Given the description of an element on the screen output the (x, y) to click on. 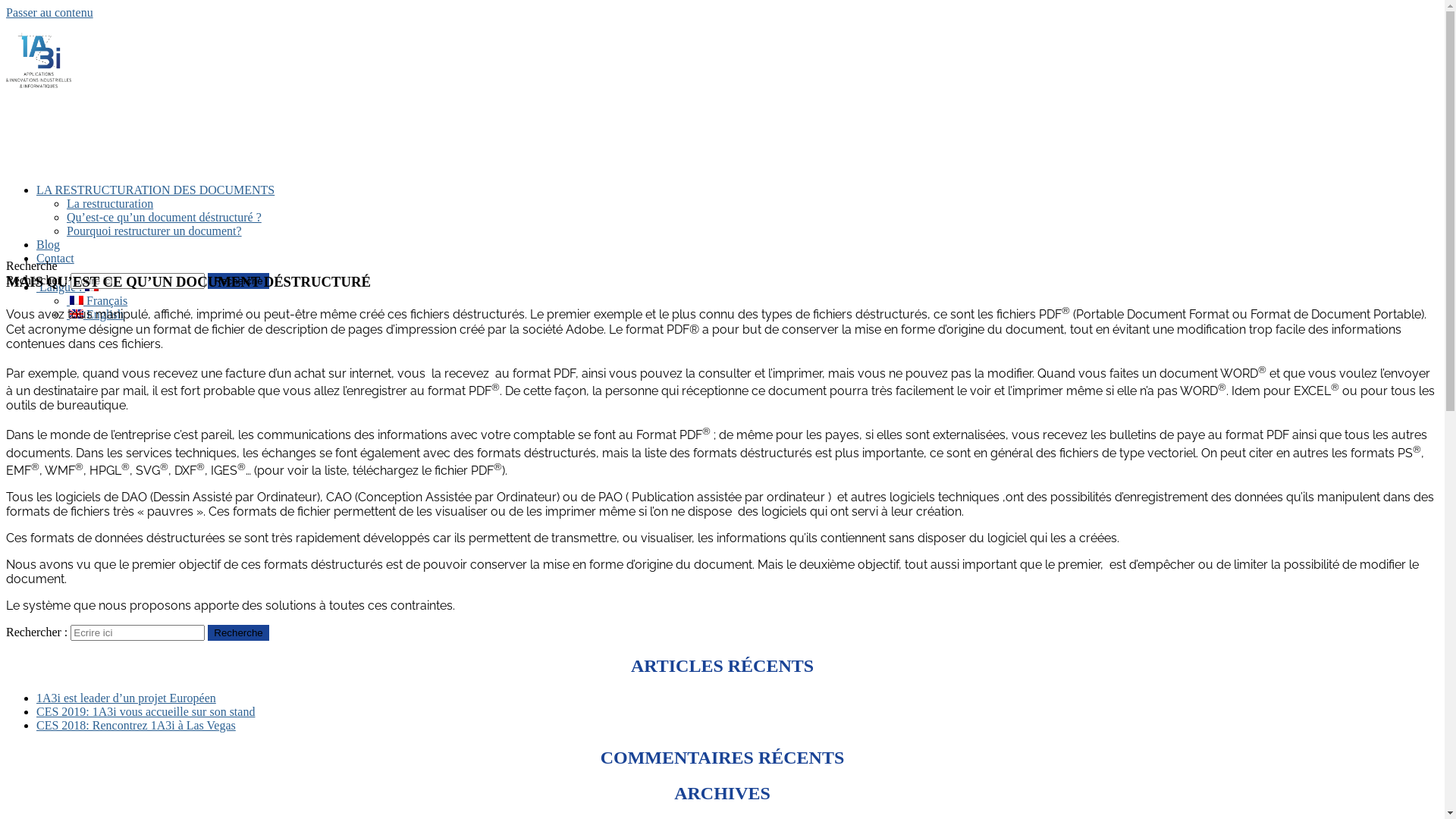
Blog Element type: text (47, 244)
La restructuration Element type: text (109, 203)
LA RESTRUCTURATION DES DOCUMENTS Element type: text (155, 189)
Recherche Element type: text (237, 632)
Recherche Element type: text (237, 280)
Contact Element type: text (55, 257)
 Langue :  Element type: text (67, 286)
Pourquoi restructurer un document? Element type: text (153, 230)
Passer au contenu Element type: text (49, 12)
  English Element type: text (94, 313)
CES 2019: 1A3i vous accueille sur son stand Element type: text (145, 711)
